Given the description of an element on the screen output the (x, y) to click on. 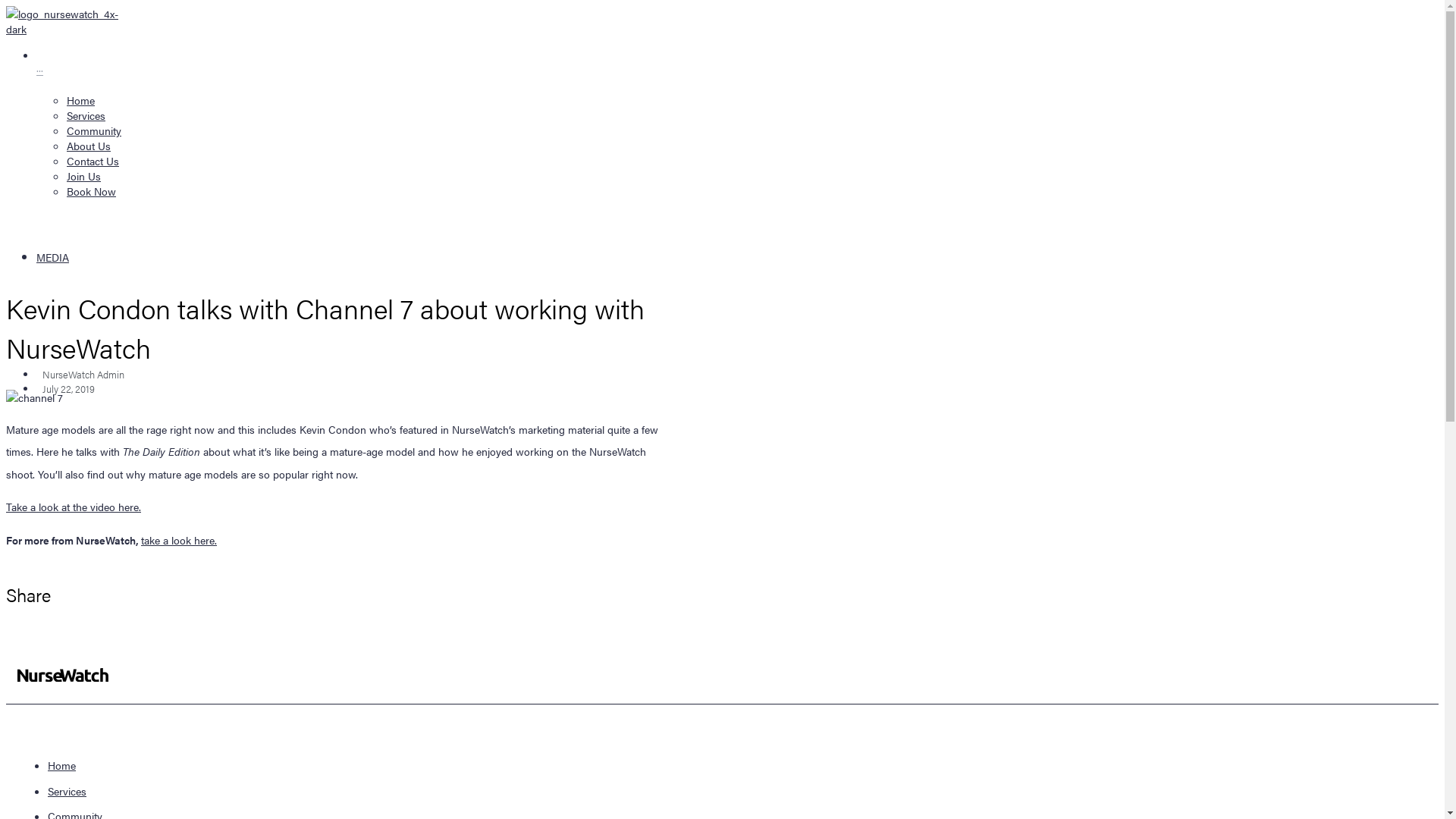
Book Now Element type: text (365, 190)
Services Element type: text (365, 114)
logo_nursewatch_4x Element type: hover (62, 674)
logo_nursewatch_4x-dark Element type: hover (64, 21)
Services Element type: text (66, 790)
About Us Element type: text (365, 145)
Home Element type: text (365, 99)
Community Element type: text (365, 130)
MEDIA Element type: text (52, 256)
Home Element type: text (61, 764)
Join Us Element type: text (365, 175)
Contact Us Element type: text (365, 160)
take a look here. Element type: text (178, 539)
channel 7 Element type: hover (34, 396)
Take a look at the video here. Element type: text (73, 506)
